Given the description of an element on the screen output the (x, y) to click on. 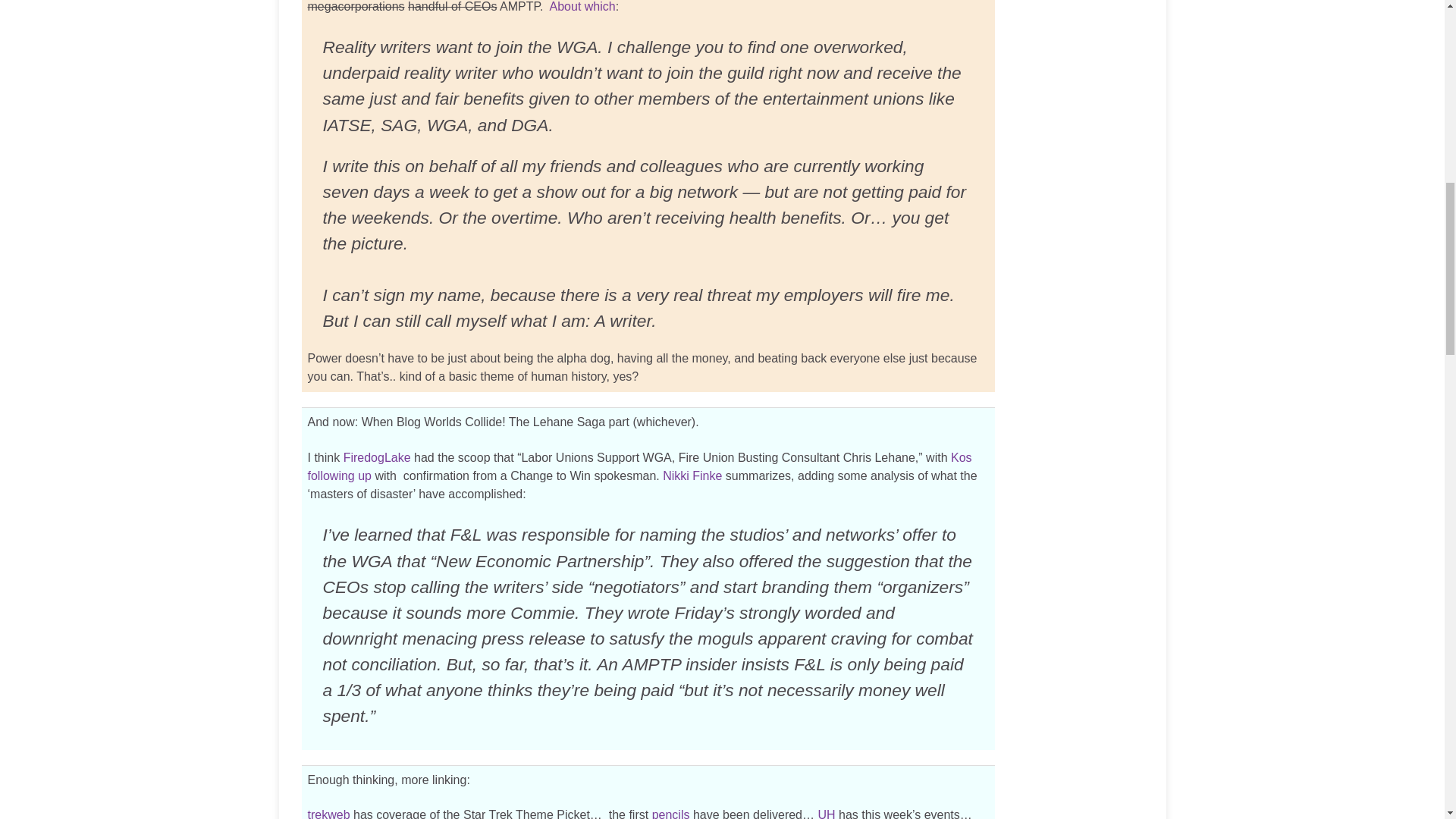
Kos (961, 457)
FiredogLake (376, 457)
UH (825, 813)
Nikki Finke (692, 475)
following up (339, 475)
pencils (671, 813)
About which (582, 6)
trekweb (328, 813)
